Given the description of an element on the screen output the (x, y) to click on. 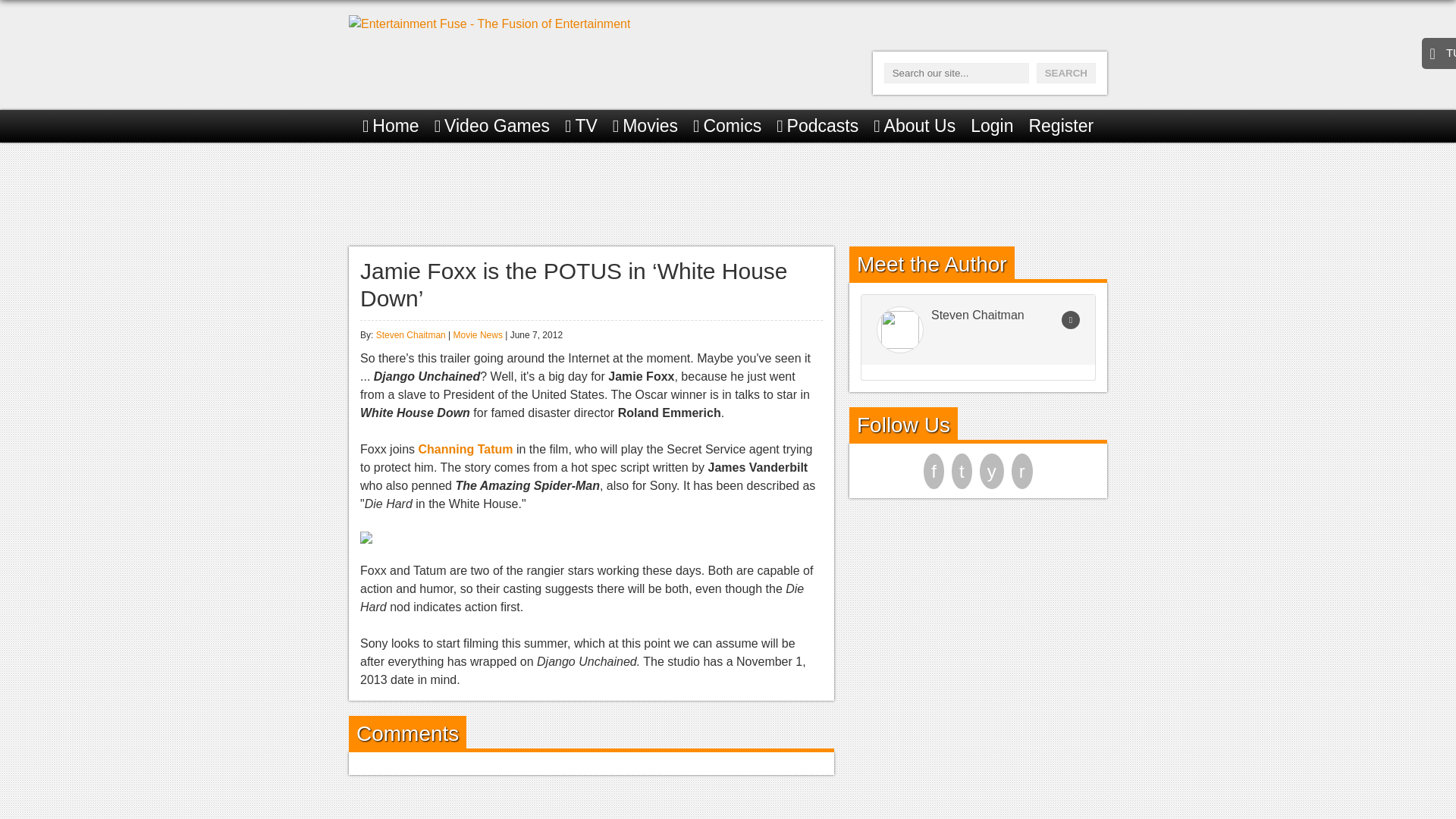
TV (580, 125)
Send E-mail (1070, 320)
Video Games (491, 125)
Home (390, 125)
Search (1066, 73)
Comics (727, 125)
Posts by Steven Chaitman (410, 335)
Search (1066, 73)
Movies (645, 125)
